Given the description of an element on the screen output the (x, y) to click on. 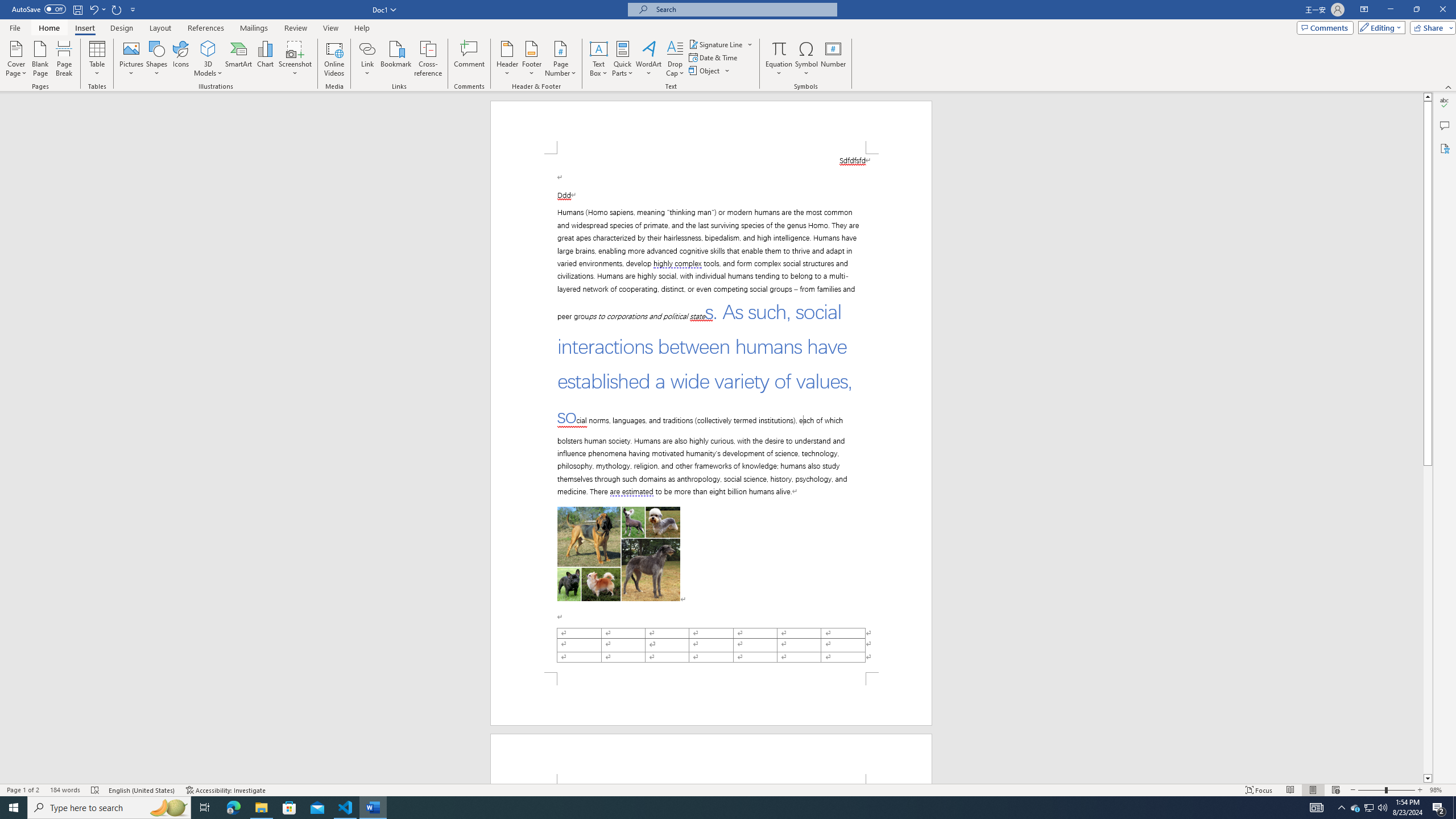
Cover Page (16, 58)
Signature Line (716, 44)
Drop Cap (674, 58)
Text Box (598, 58)
Page Break (63, 58)
Blank Page (40, 58)
3D Models (208, 48)
WordArt (648, 58)
